Given the description of an element on the screen output the (x, y) to click on. 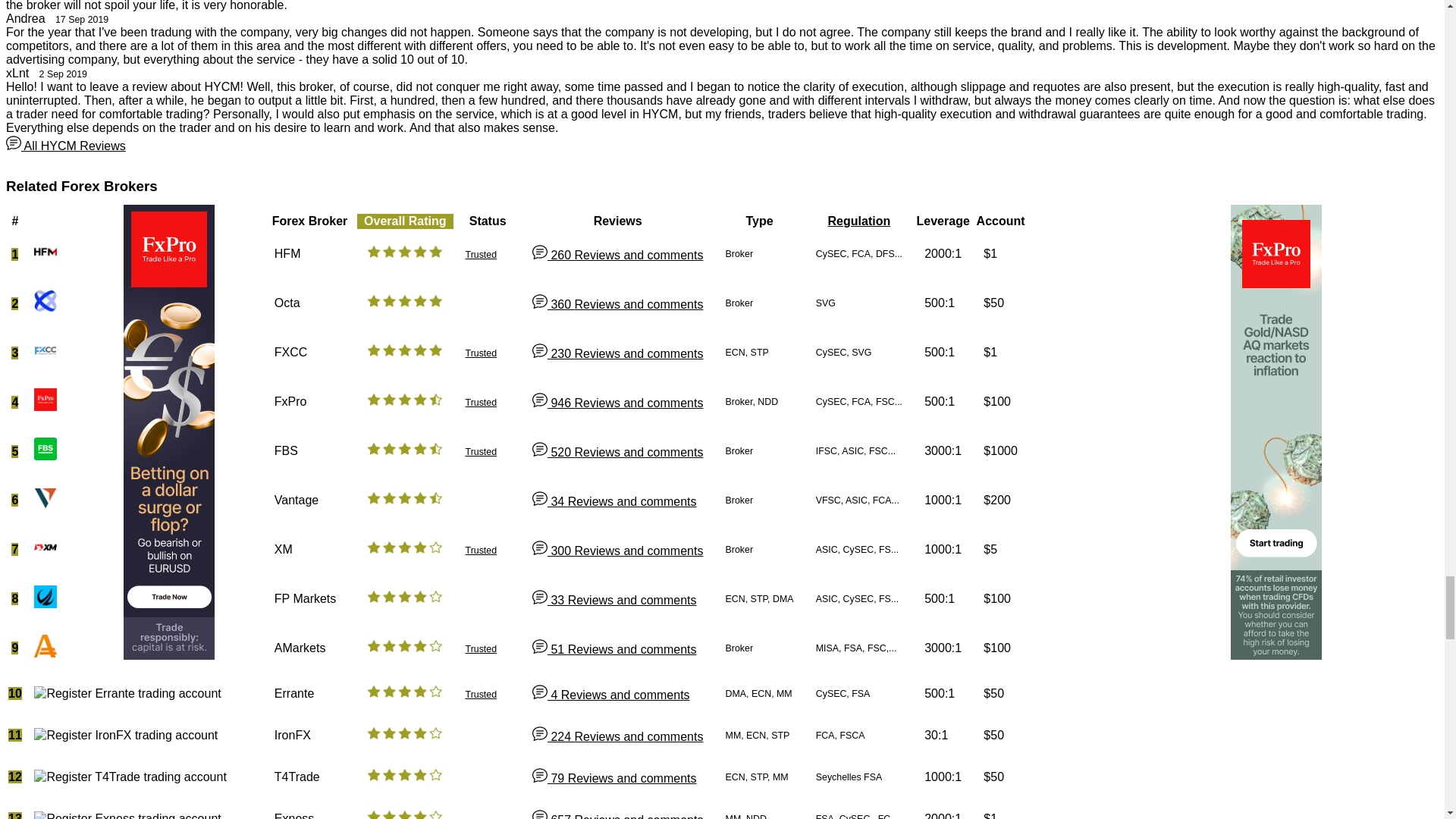
Octa review and information (287, 302)
Overall Rating for Octa: 5 stars (404, 300)
FXCC review and information (291, 351)
Octa traders Reviews and Comments (617, 304)
Overall Rating for FXCC: 5 stars (404, 349)
Trusted Forex Broker (481, 353)
HFM review and information (288, 253)
FxPro review and information (291, 400)
FXCC traders Reviews and Comments (617, 353)
HFM traders Reviews and Comments (617, 254)
Trusted Forex Broker (481, 254)
Overall Rating for HFM: 5 stars (404, 251)
